Given the description of an element on the screen output the (x, y) to click on. 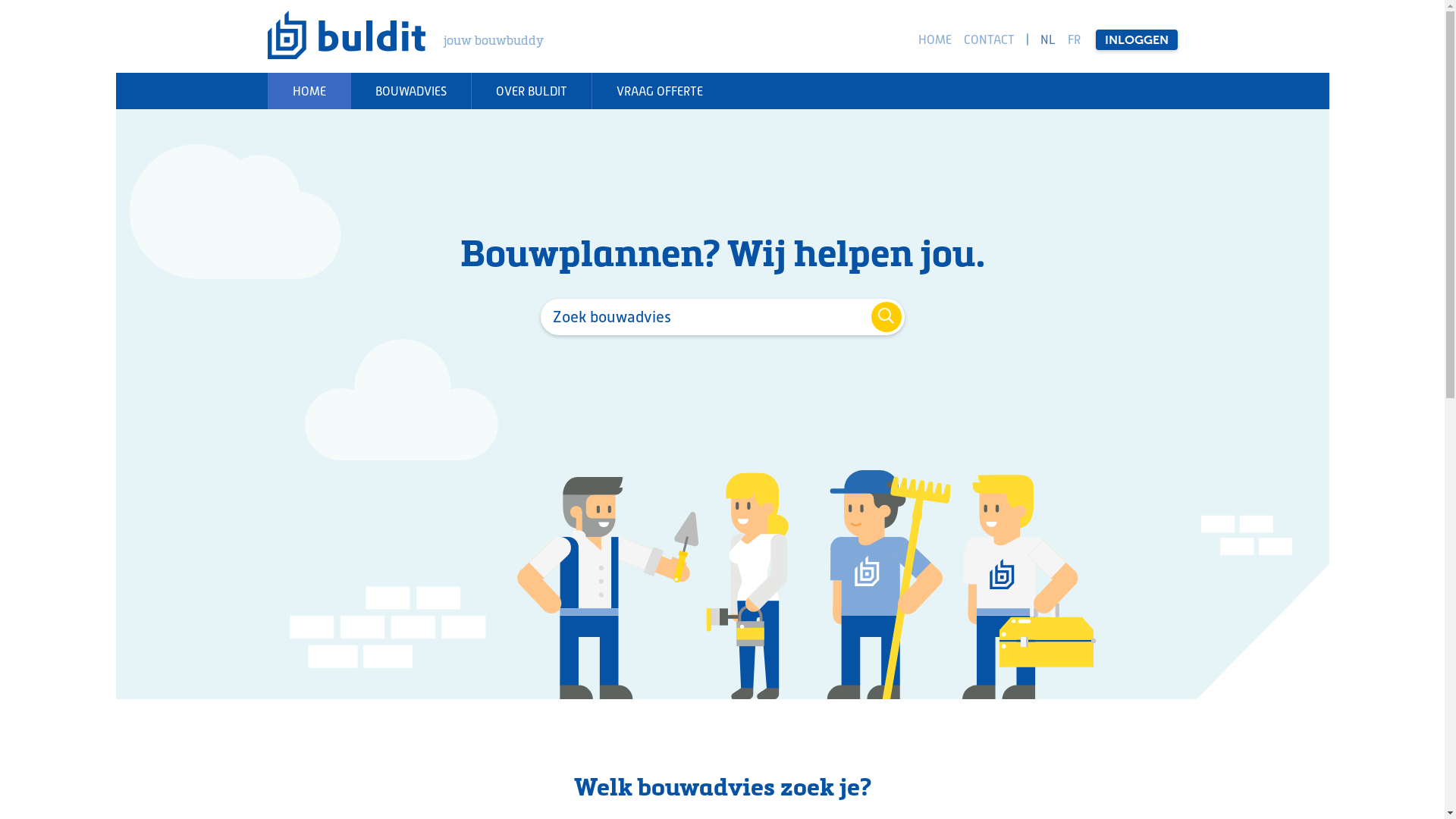
CONTACT Element type: text (988, 38)
OVER BULDIT Element type: text (530, 90)
BOUWADVIES Element type: text (410, 90)
HOME Element type: text (933, 38)
INLOGGEN Element type: text (1135, 38)
HOME Element type: text (307, 90)
NL Element type: text (1047, 38)
FR Element type: text (1073, 38)
VRAAG OFFERTE Element type: text (659, 90)
